Given the description of an element on the screen output the (x, y) to click on. 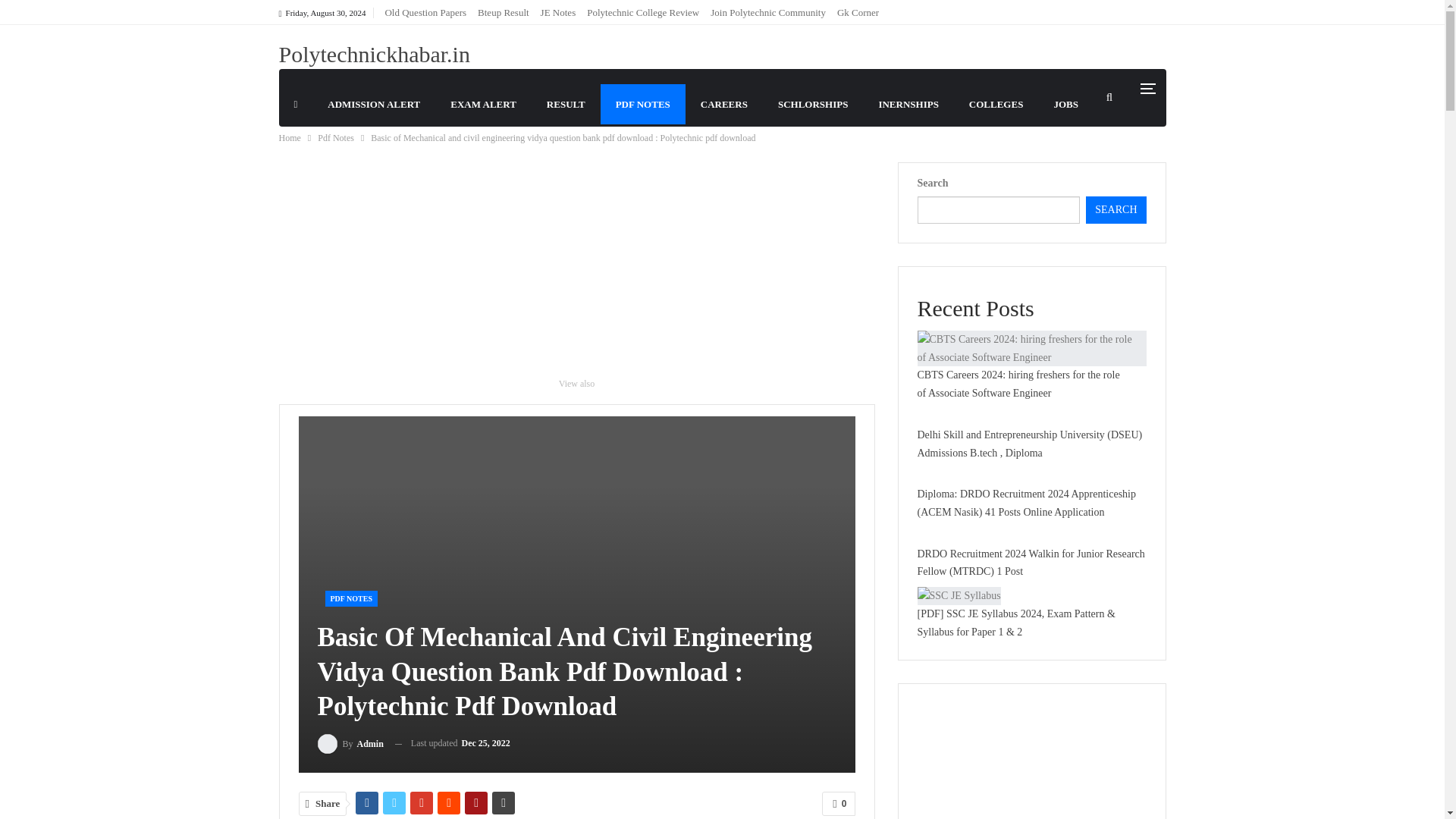
EXAM ALERT (483, 104)
Gk Corner (858, 12)
JOBS (1065, 104)
Browse Author Articles (349, 743)
SCHLORSHIPS (812, 104)
DIPLOMA JOBS (331, 144)
JE Notes (558, 12)
PDF NOTES (642, 104)
COLLEGES (996, 104)
CAREERS (723, 104)
